Given the description of an element on the screen output the (x, y) to click on. 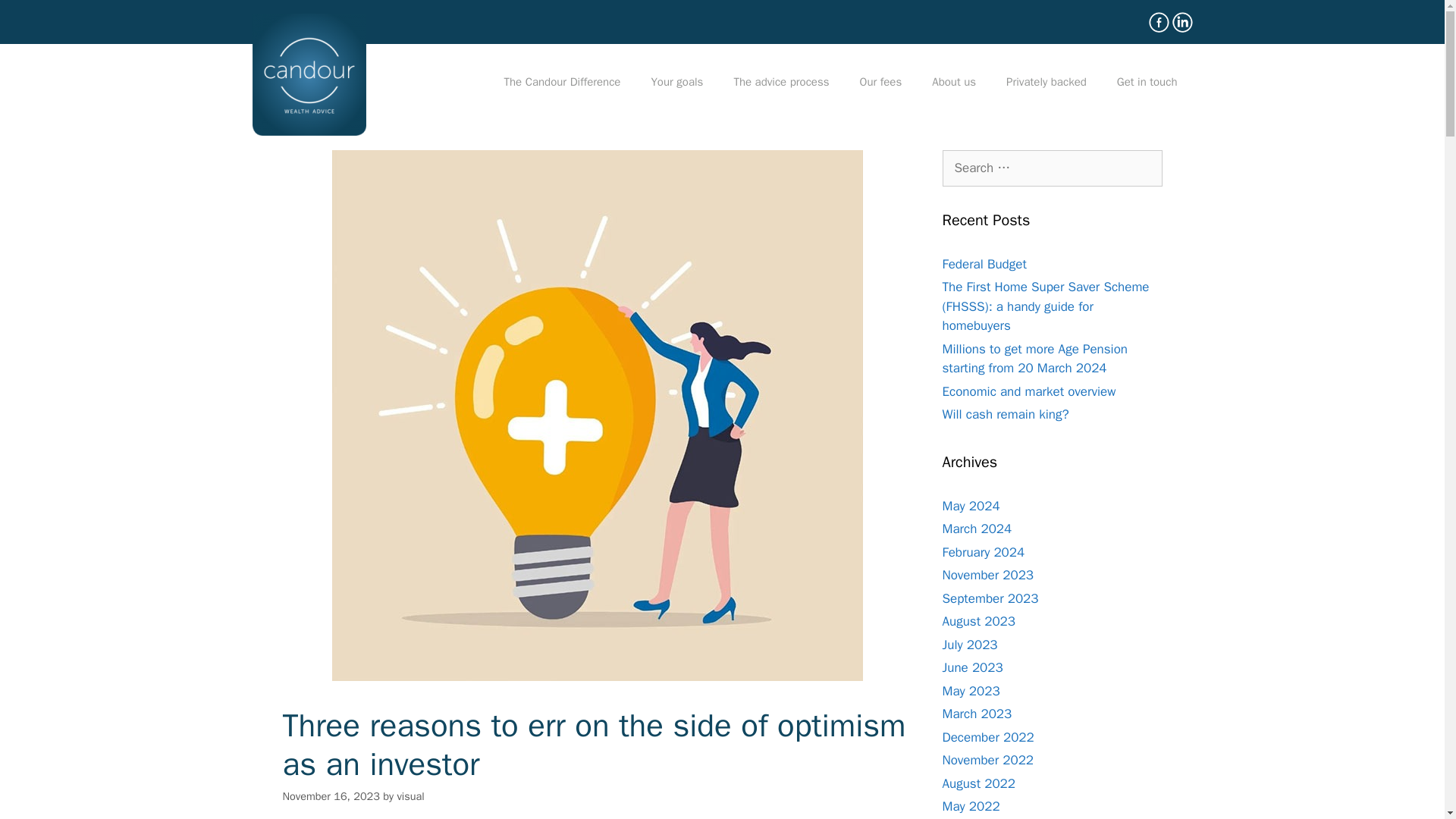
Will cash remain king? (1005, 414)
View all posts by visual (409, 796)
May 2024 (970, 505)
September 2023 (990, 598)
visual (409, 796)
Get in touch (1147, 81)
Privately backed (1046, 81)
June 2023 (972, 667)
Federal Budget (984, 263)
Search (35, 18)
